Given the description of an element on the screen output the (x, y) to click on. 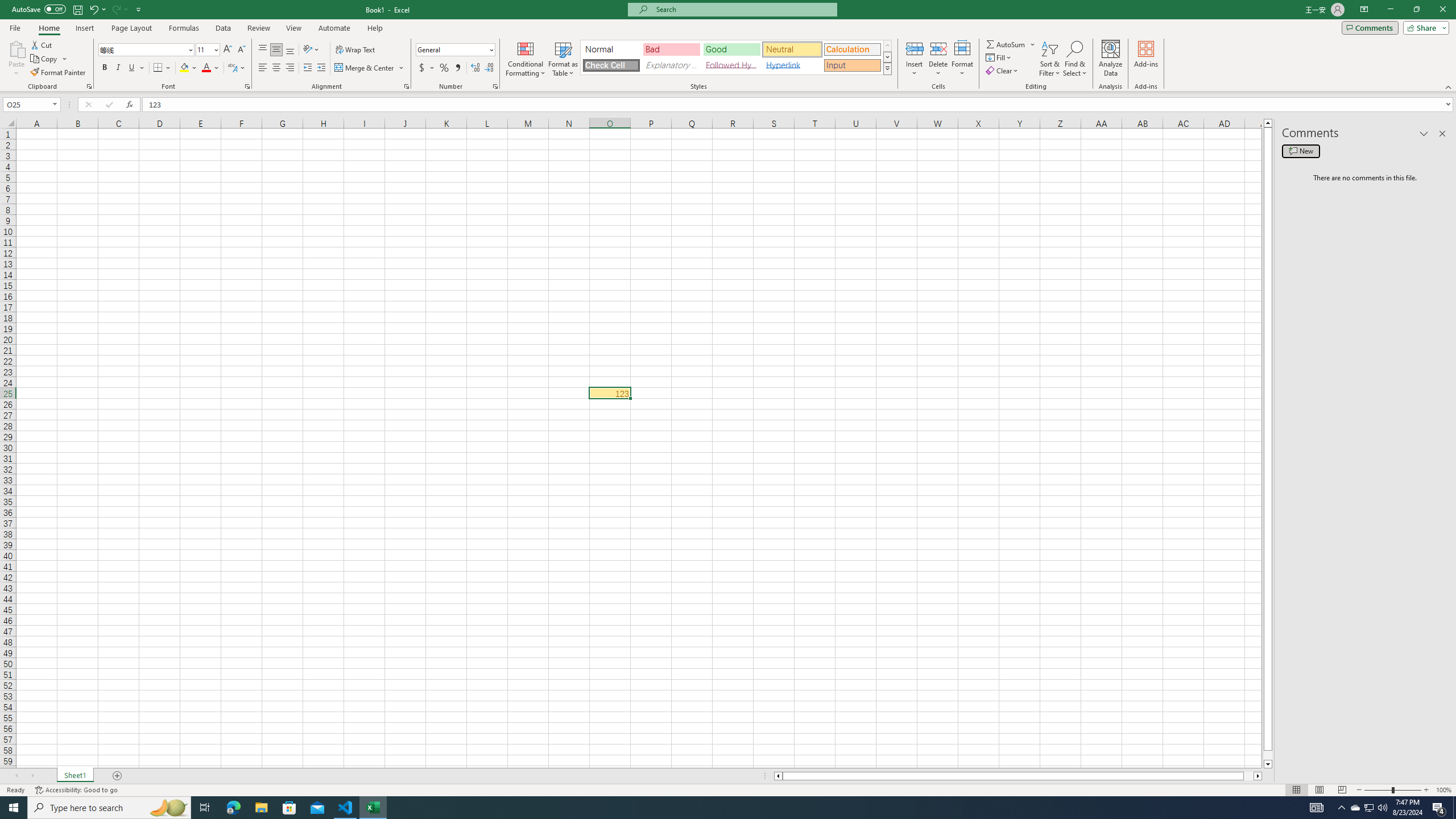
Formula Bar (799, 104)
